Given the description of an element on the screen output the (x, y) to click on. 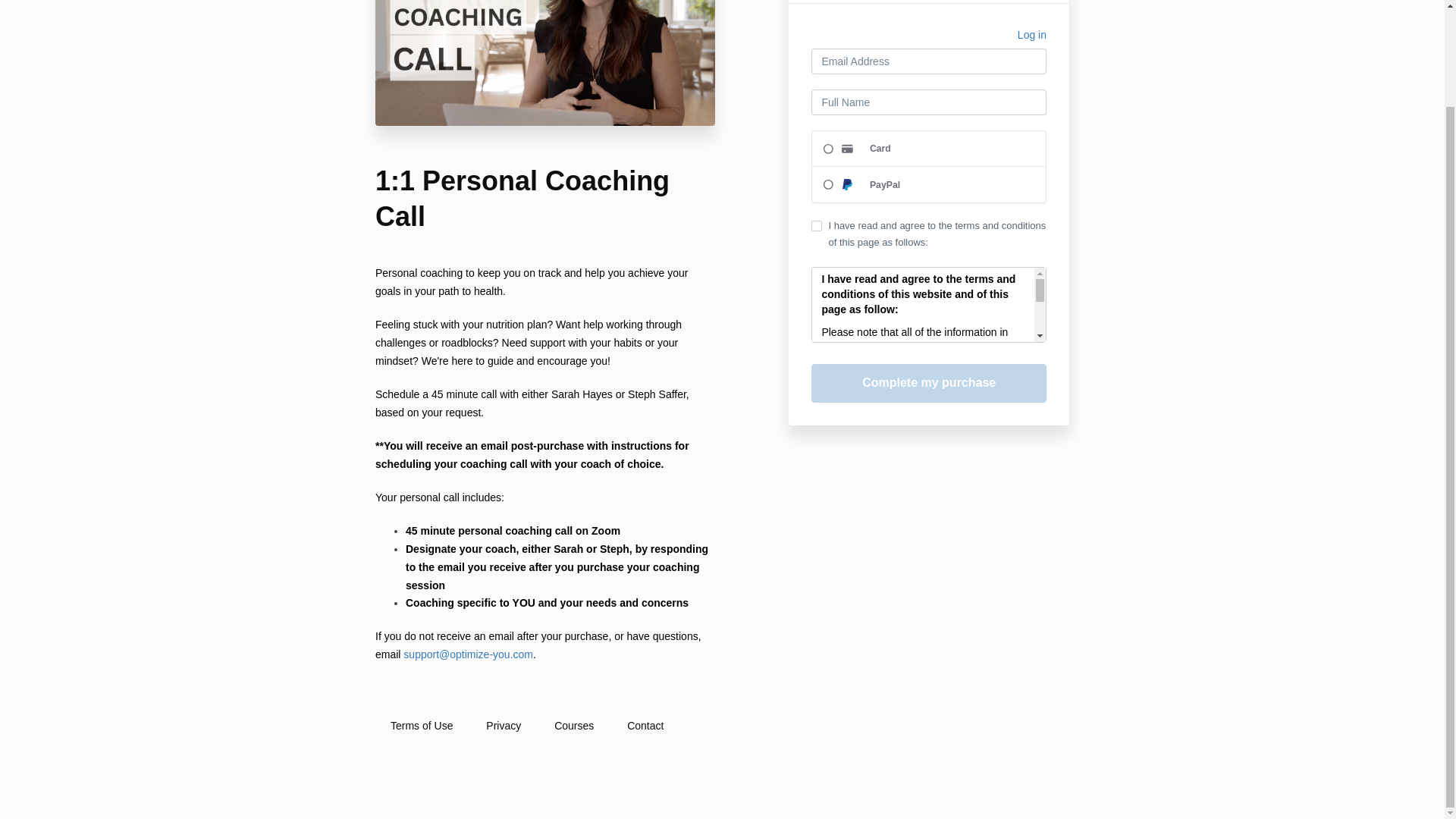
Courses (573, 726)
1 (816, 225)
Contact (644, 726)
Complete my purchase (928, 382)
Privacy (502, 726)
Secure payment input frame (928, 166)
Terms of Use (421, 726)
Complete my purchase (928, 382)
Log in (1031, 37)
